Given the description of an element on the screen output the (x, y) to click on. 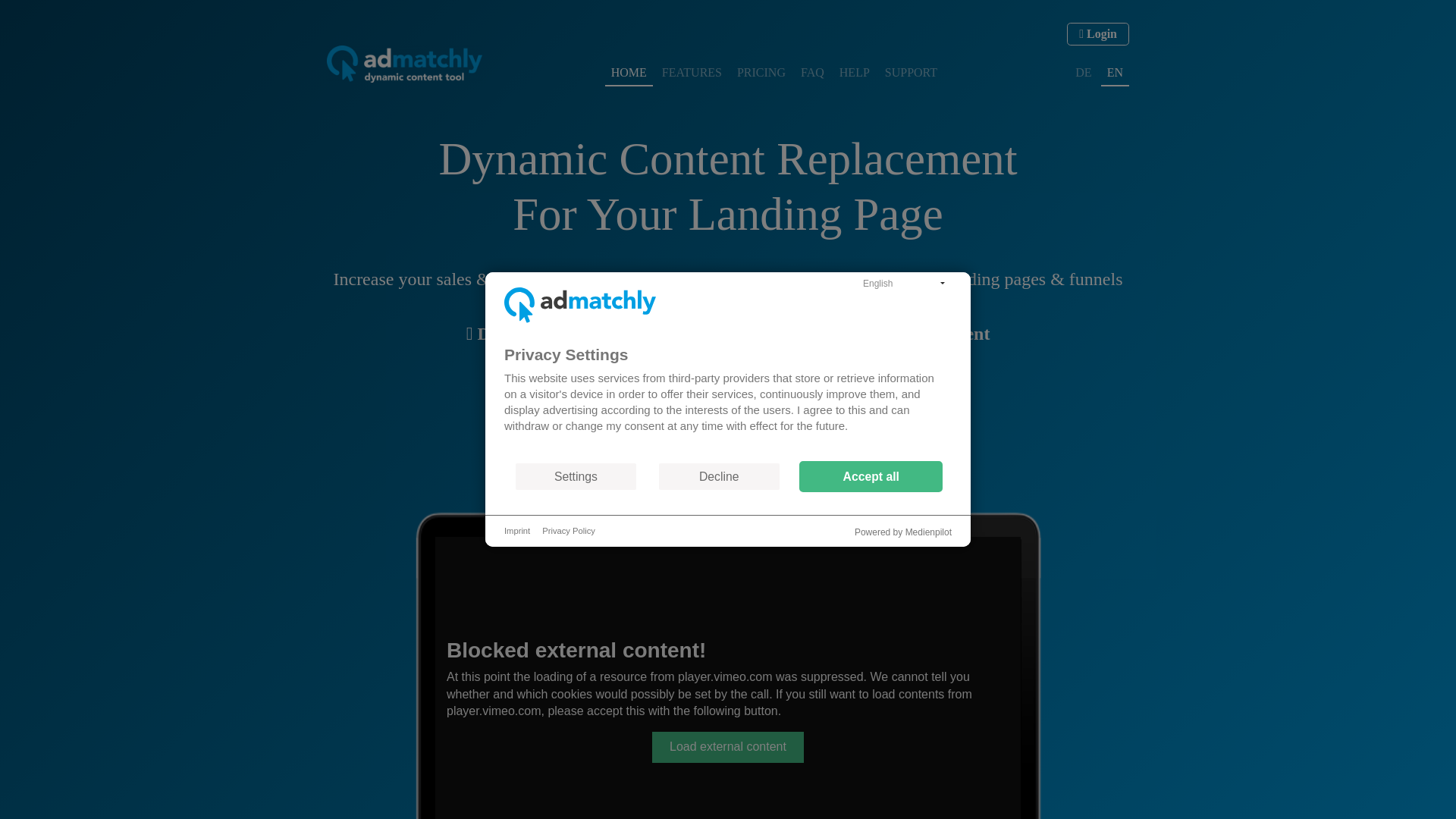
HELP (854, 72)
SUPPORT (911, 72)
HOME (628, 73)
 Login (1098, 33)
SIGN UP FOR FREE 14 DAY TRIAL (727, 428)
Logo admatchly - Dynamic Text Replacment Tool (403, 63)
FEATURES (692, 72)
DE (1082, 72)
FAQ (811, 72)
 WATCH VIDEO (727, 468)
EN (1114, 73)
PRICING (761, 72)
